Given the description of an element on the screen output the (x, y) to click on. 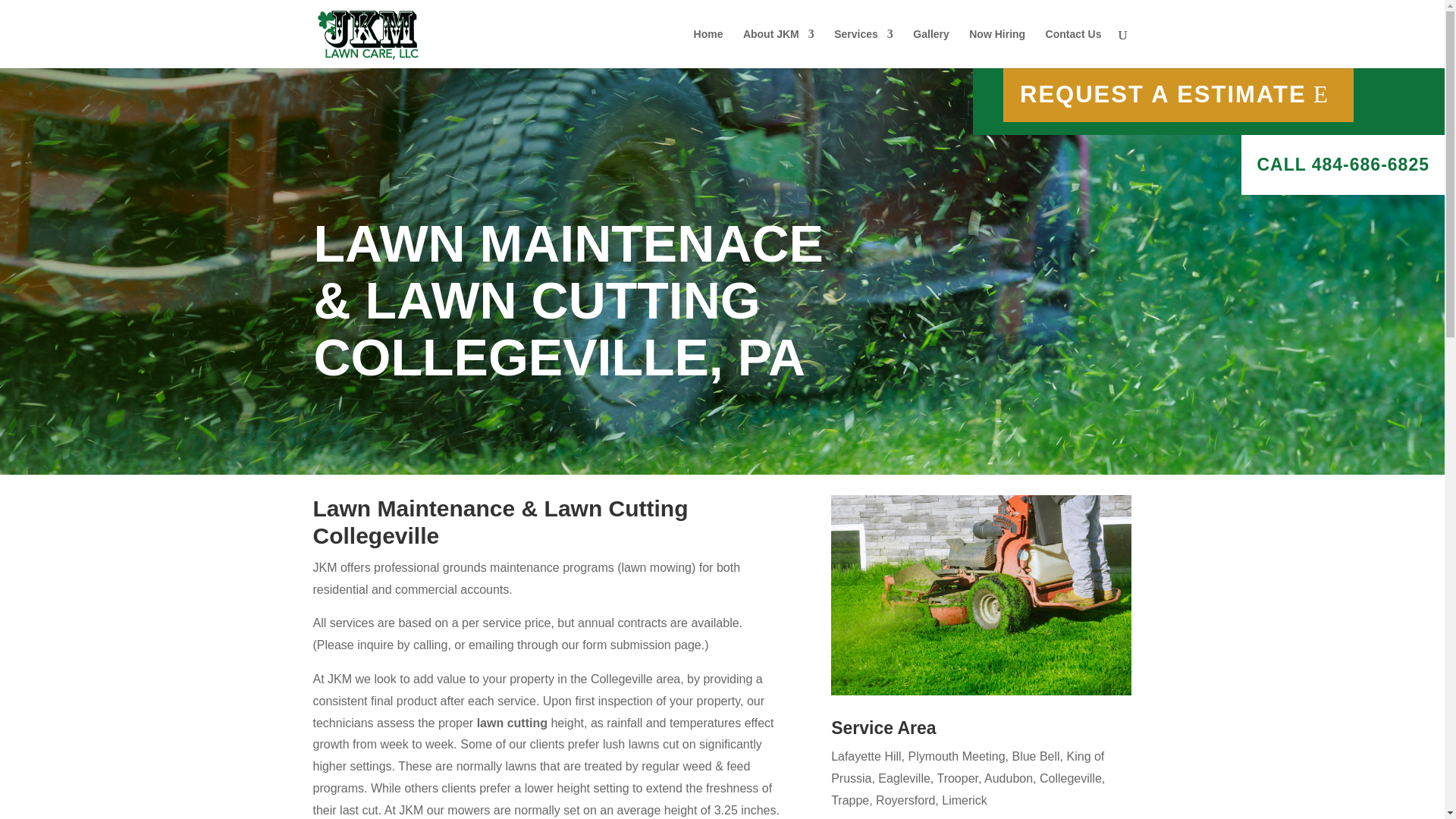
Now Hiring (997, 47)
REQUEST A ESTIMATE (1177, 94)
About JKM (777, 47)
Services (863, 47)
Contact Us (1073, 47)
Gallery (930, 47)
